Given the description of an element on the screen output the (x, y) to click on. 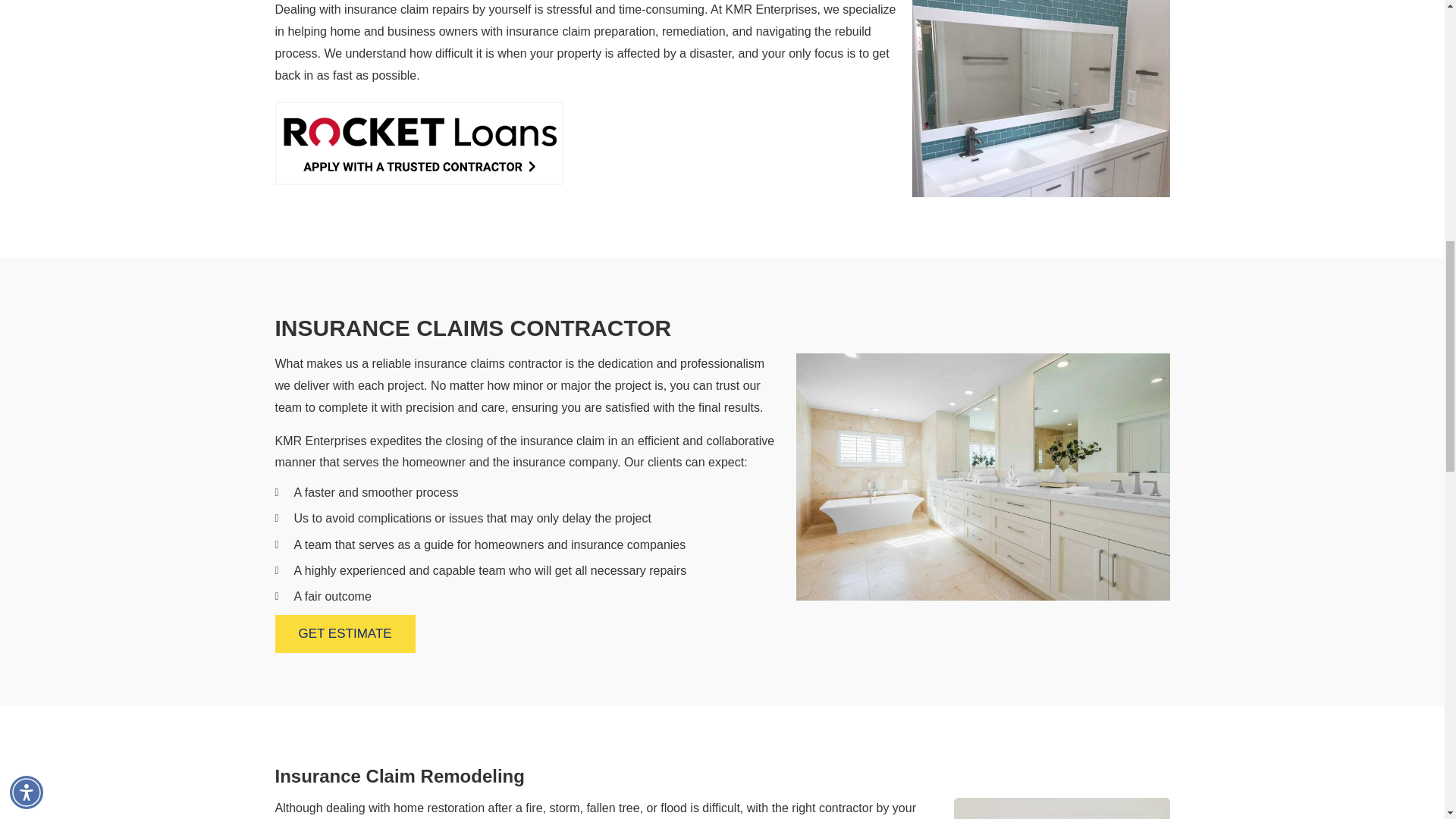
GET ESTIMATE (344, 633)
